Given the description of an element on the screen output the (x, y) to click on. 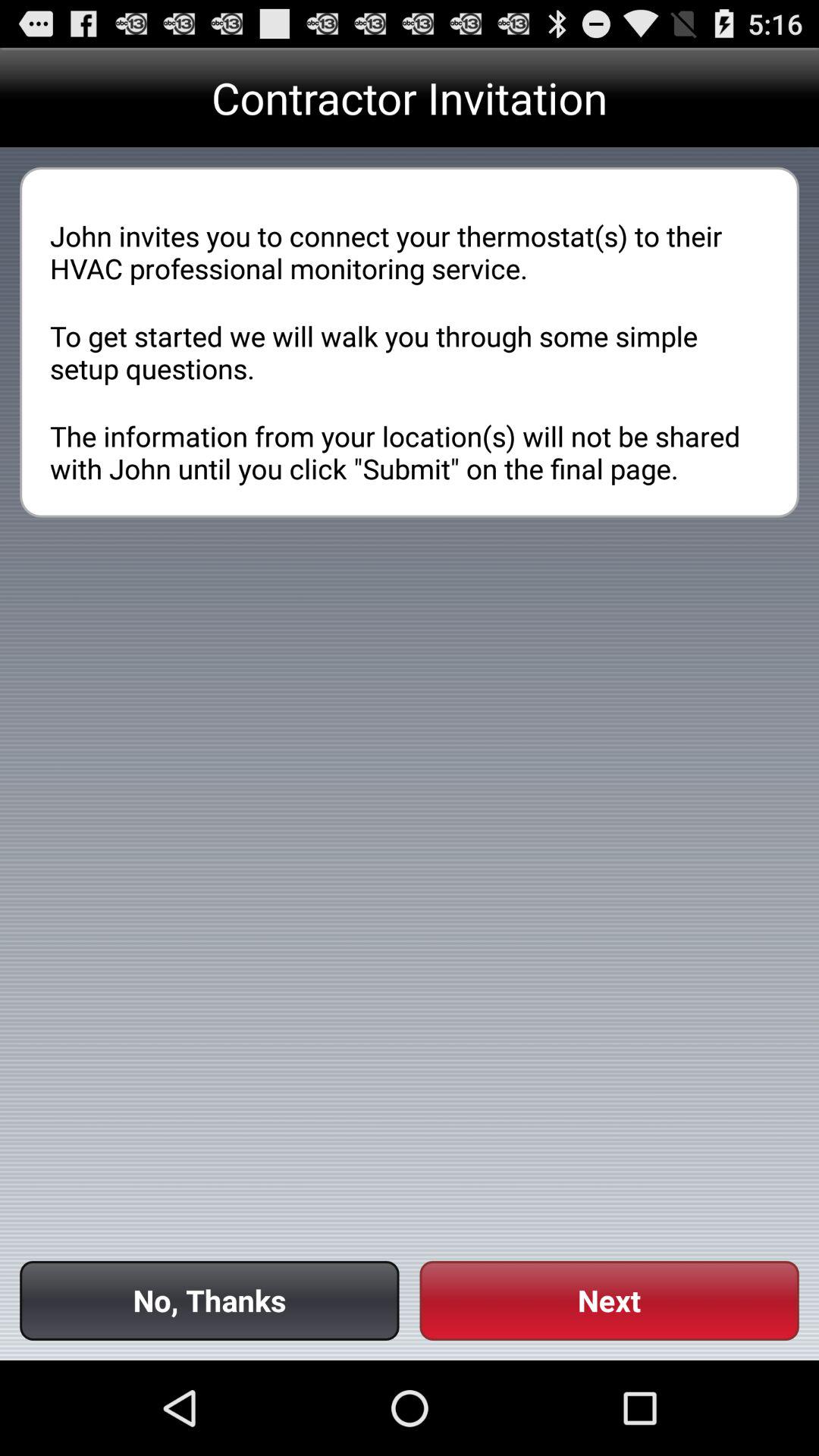
select next item (609, 1300)
